Given the description of an element on the screen output the (x, y) to click on. 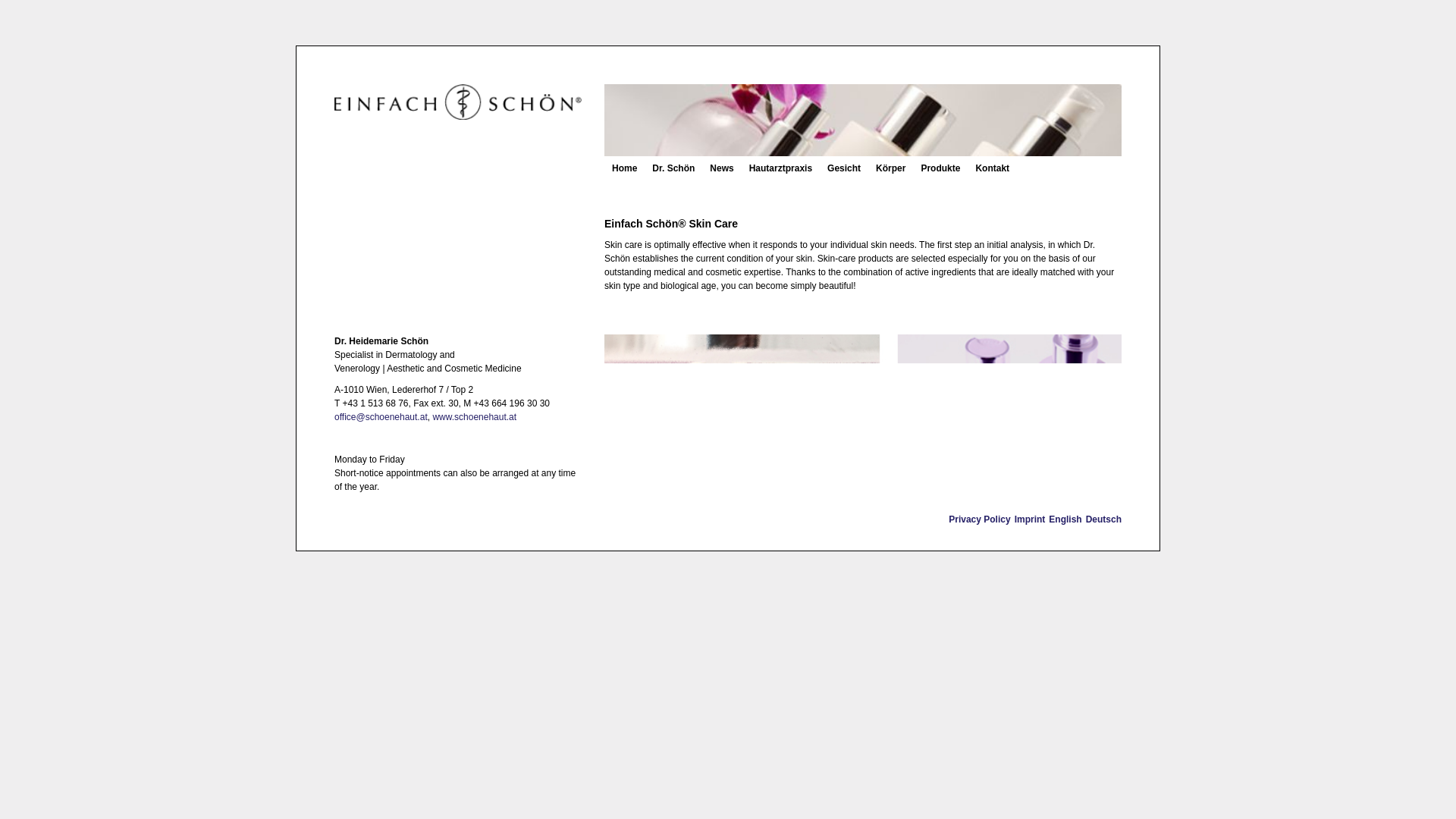
Produkte (940, 168)
Kontakt (992, 168)
English (1064, 519)
Gesicht (843, 168)
Deutsch (1103, 519)
Privacy Policy (979, 519)
Home (624, 168)
Imprint (1029, 519)
Hautarztpraxis (780, 168)
www.schoenehaut.at (474, 416)
